Given the description of an element on the screen output the (x, y) to click on. 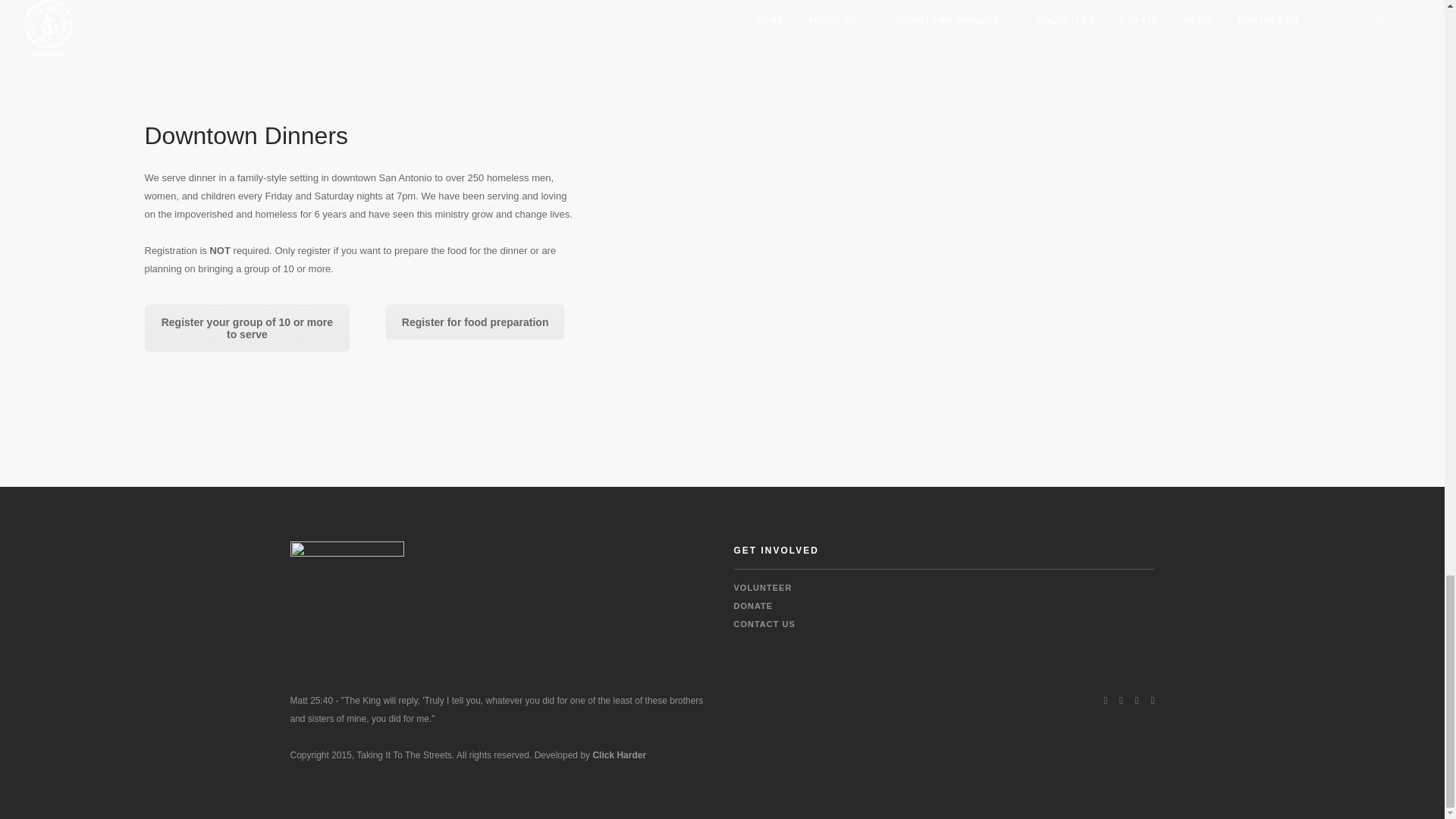
Register your group of 10 or more to serve (246, 328)
VOLUNTEER (762, 587)
DONATE (753, 605)
Click Harder (619, 755)
CONTACT US (763, 623)
Register for food preparation (474, 321)
